Given the description of an element on the screen output the (x, y) to click on. 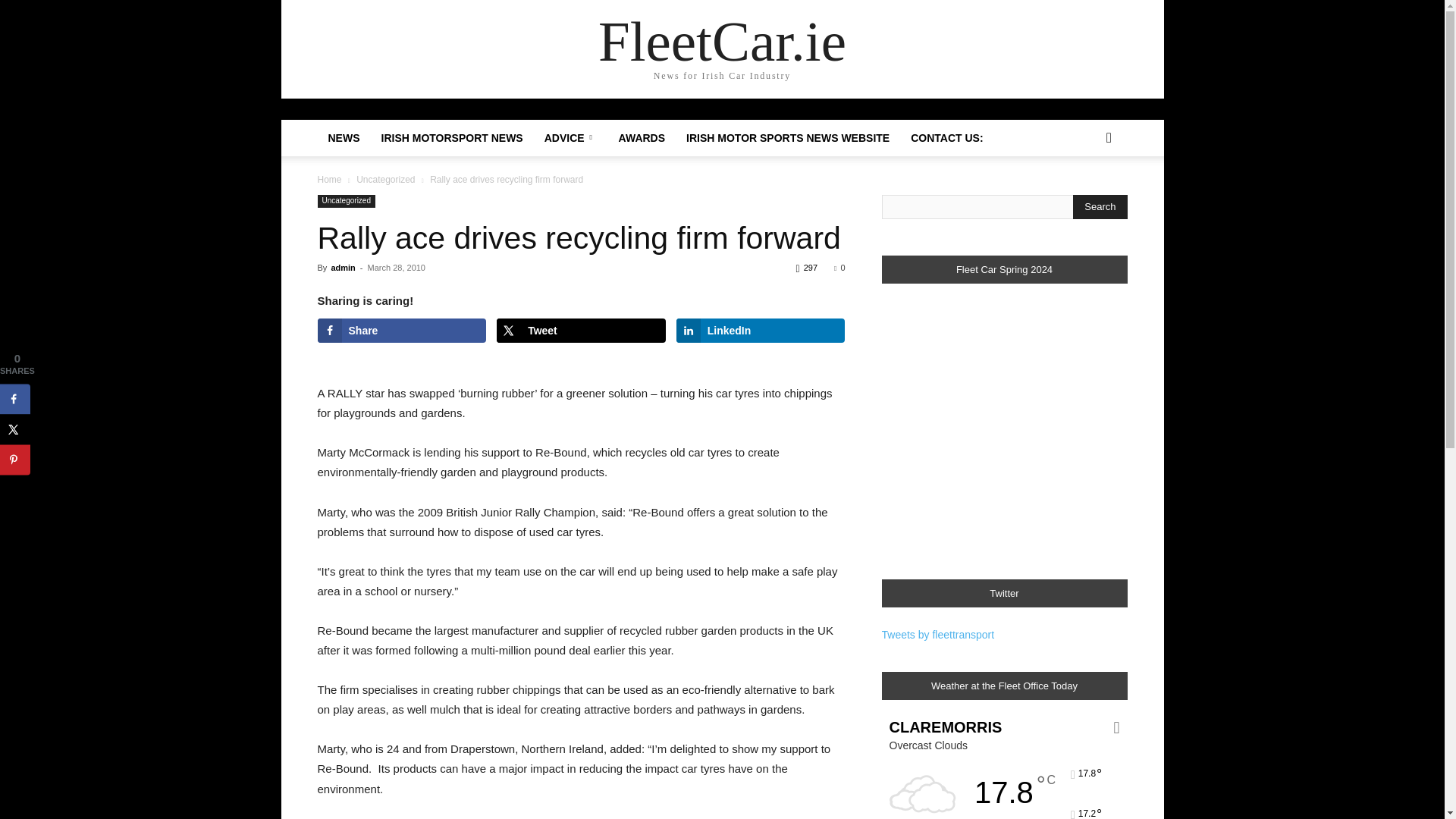
Search (1099, 206)
View all posts in Uncategorized (385, 179)
Tweet (580, 330)
0 (839, 266)
LinkedIn (761, 330)
IRISH MOTOR SPORTS NEWS WEBSITE (787, 137)
ADVICE (571, 137)
Search (1085, 198)
Share (401, 330)
Share on Facebook (401, 330)
Share on X (15, 429)
Home (328, 179)
AWARDS (641, 137)
CONTACT US: (945, 137)
NEWS (343, 137)
